Given the description of an element on the screen output the (x, y) to click on. 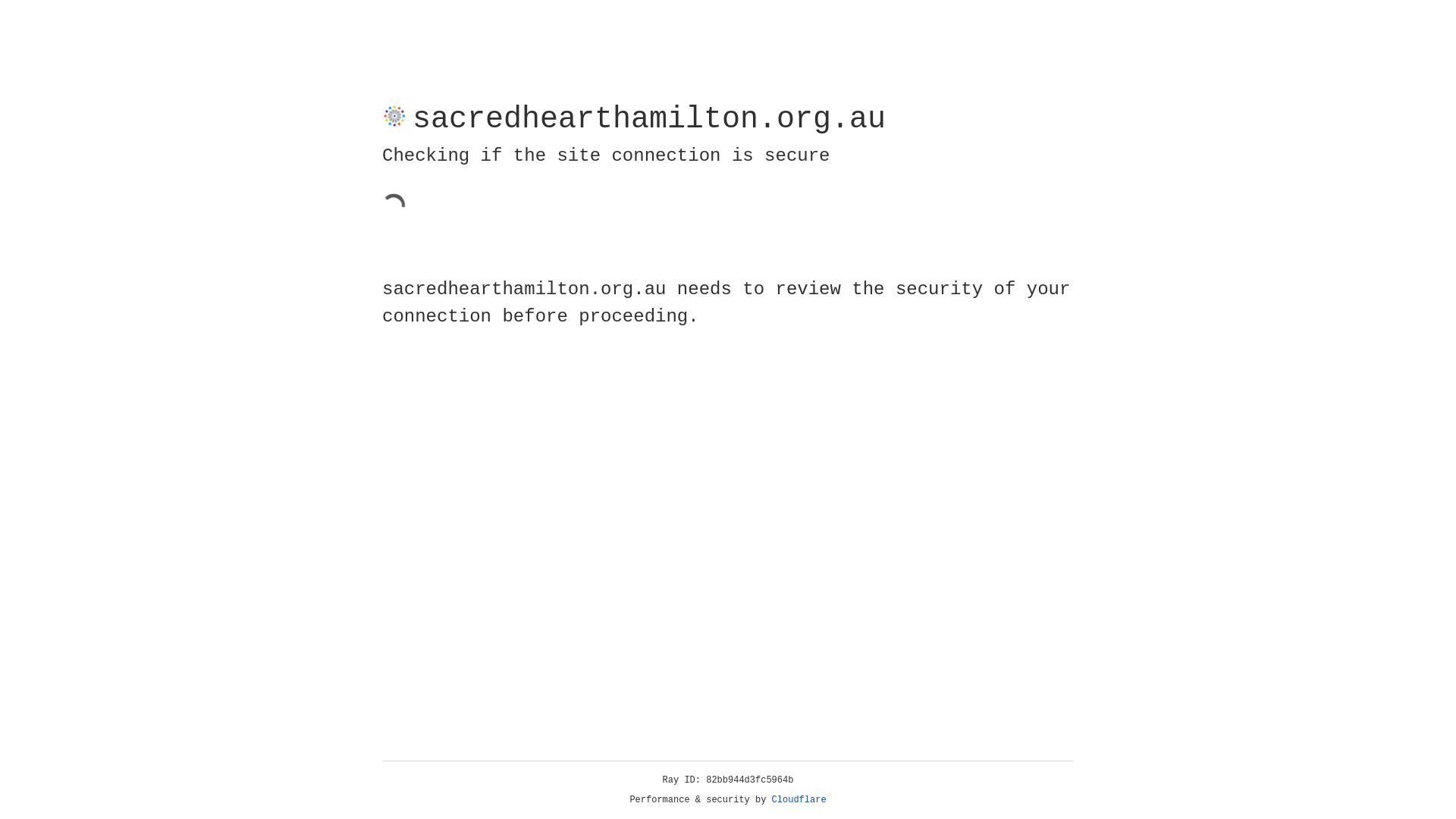
Cloudflare Element type: text (798, 799)
